Given the description of an element on the screen output the (x, y) to click on. 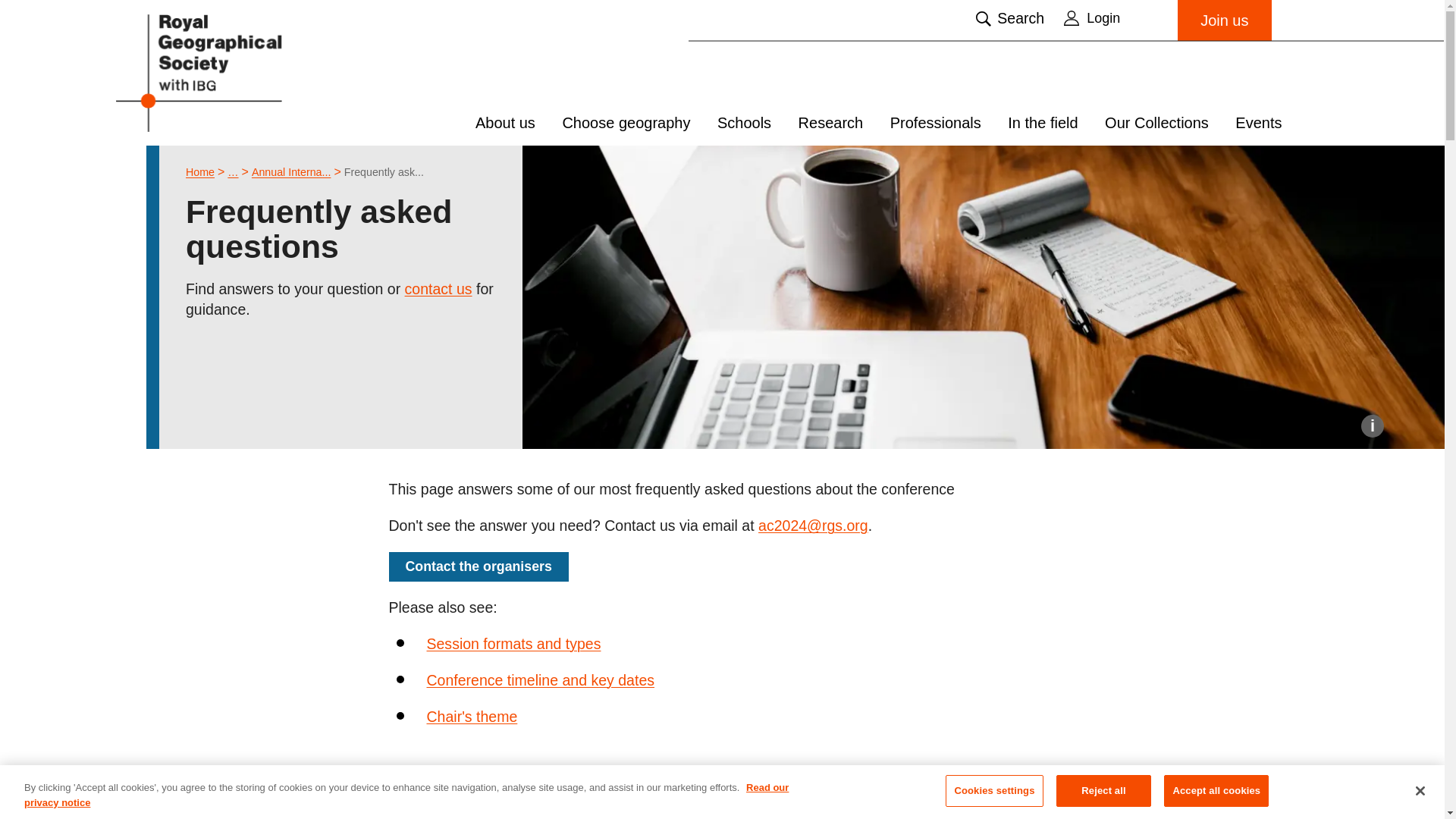
About us (505, 122)
Choose geography (626, 122)
Royal Geographical Society (236, 72)
Chair's theme (471, 716)
Schools (744, 122)
Research (830, 122)
Annual International Conference (290, 172)
Key dates and deadlines (539, 680)
Conference session formats (512, 643)
Search (1009, 18)
